Given the description of an element on the screen output the (x, y) to click on. 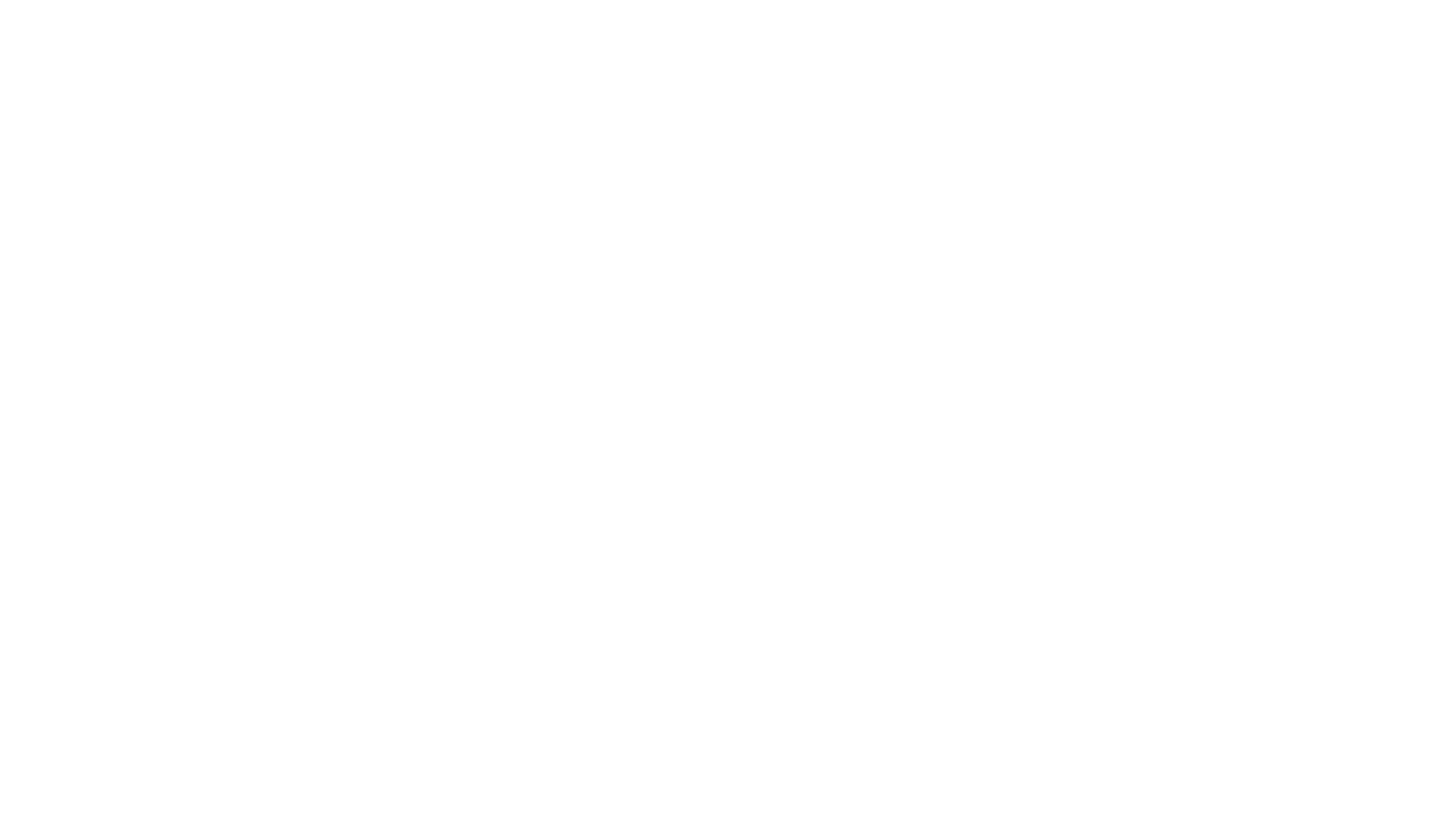
Cloudflare Element type: text (798, 799)
